Given the description of an element on the screen output the (x, y) to click on. 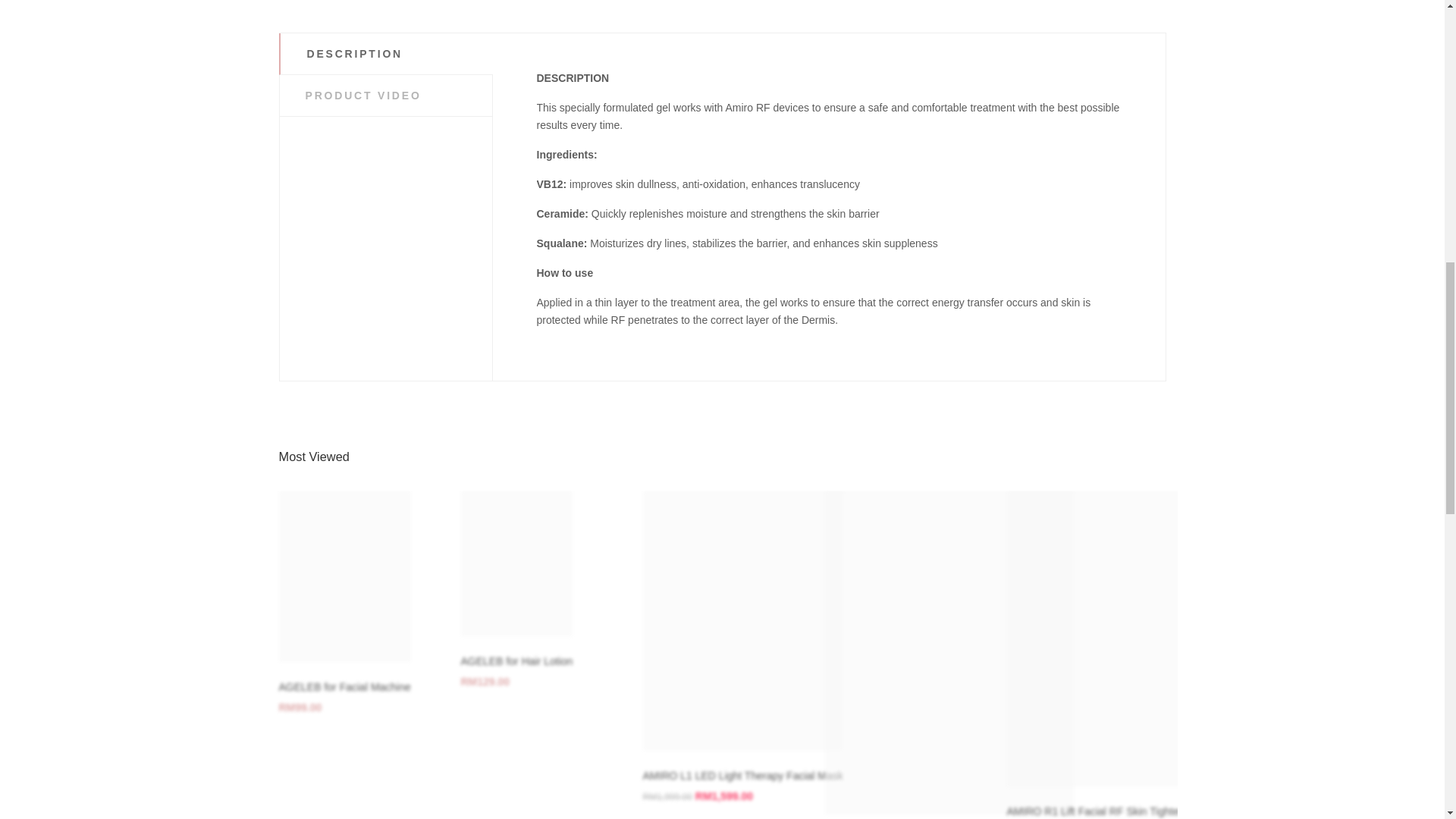
DESCRIPTION (387, 53)
PRODUCT VIDEO (385, 95)
AGELEB for Facial Machine (344, 686)
AGELEB for Hair Lotion (517, 661)
AMIRO L1 LED Light Therapy Facial Mask (743, 775)
